Given the description of an element on the screen output the (x, y) to click on. 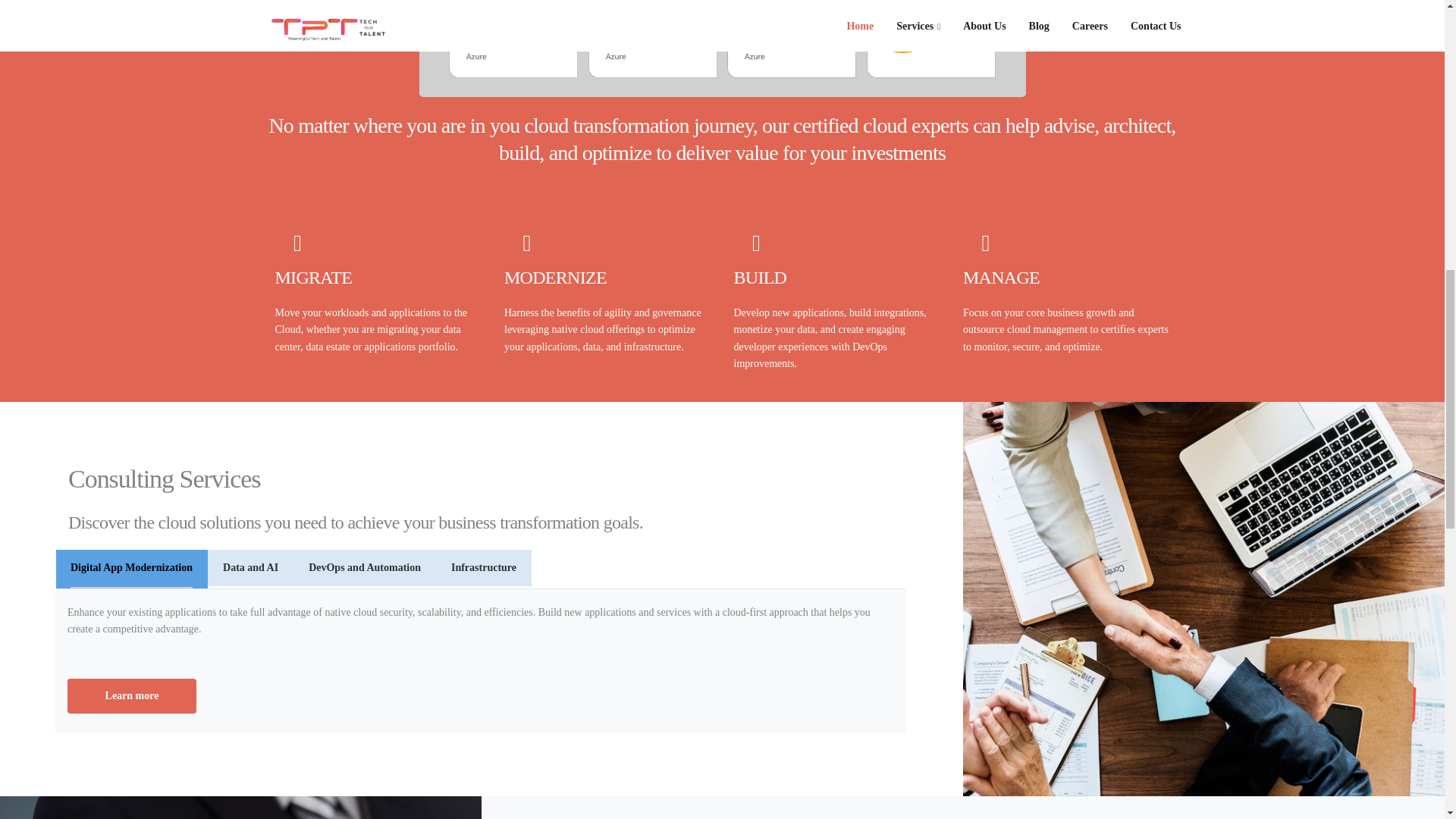
Data and AI (250, 567)
Digital App Modernization (130, 568)
DevOps and Automation (364, 567)
Infrastructure (483, 567)
Learn more (131, 695)
